Given the description of an element on the screen output the (x, y) to click on. 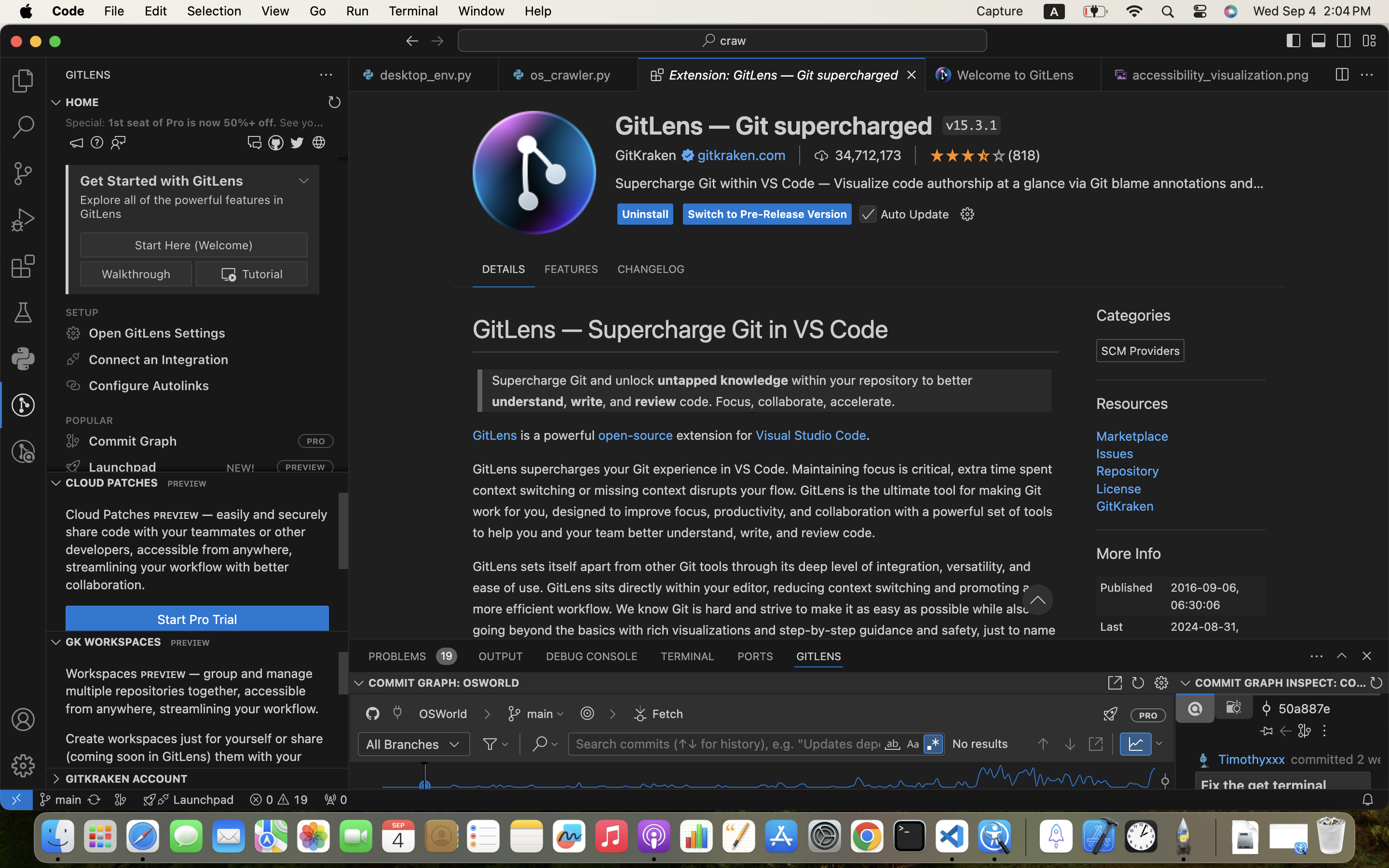
main Element type: AXStaticText (539, 713)
GitLens is Element type: AXStaticText (1076, 211)
COMMIT GRAPH: OSWORLD Element type: AXStaticText (443, 683)
0 Welcome to GitLens  Element type: AXRadioButton (1014, 74)
within your repository to better Element type: AXStaticText (784, 180)
